Given the description of an element on the screen output the (x, y) to click on. 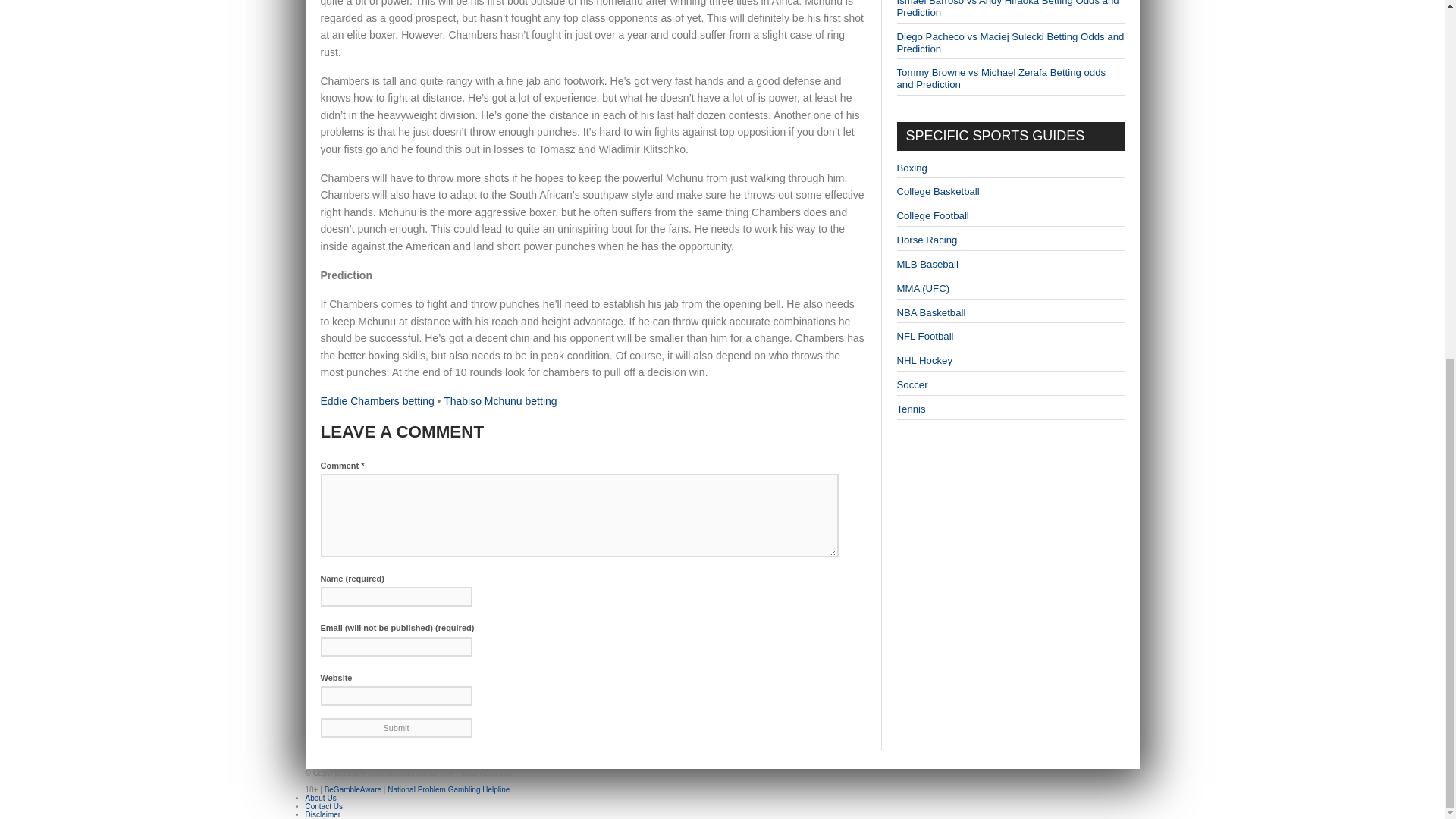
NCAA Basketball Betting (937, 191)
Eddie Chambers betting (376, 400)
MMA Betting (922, 288)
Submit (395, 727)
Submit (395, 727)
Boxing (911, 167)
Thabiso Mchunu betting (500, 400)
Tommy Browne vs Michael Zerafa Betting odds and Prediction (1000, 78)
NBA Betting (930, 312)
Ismael Barroso vs Andy Hiraoka Betting Odds and Prediction (1007, 9)
